Given the description of an element on the screen output the (x, y) to click on. 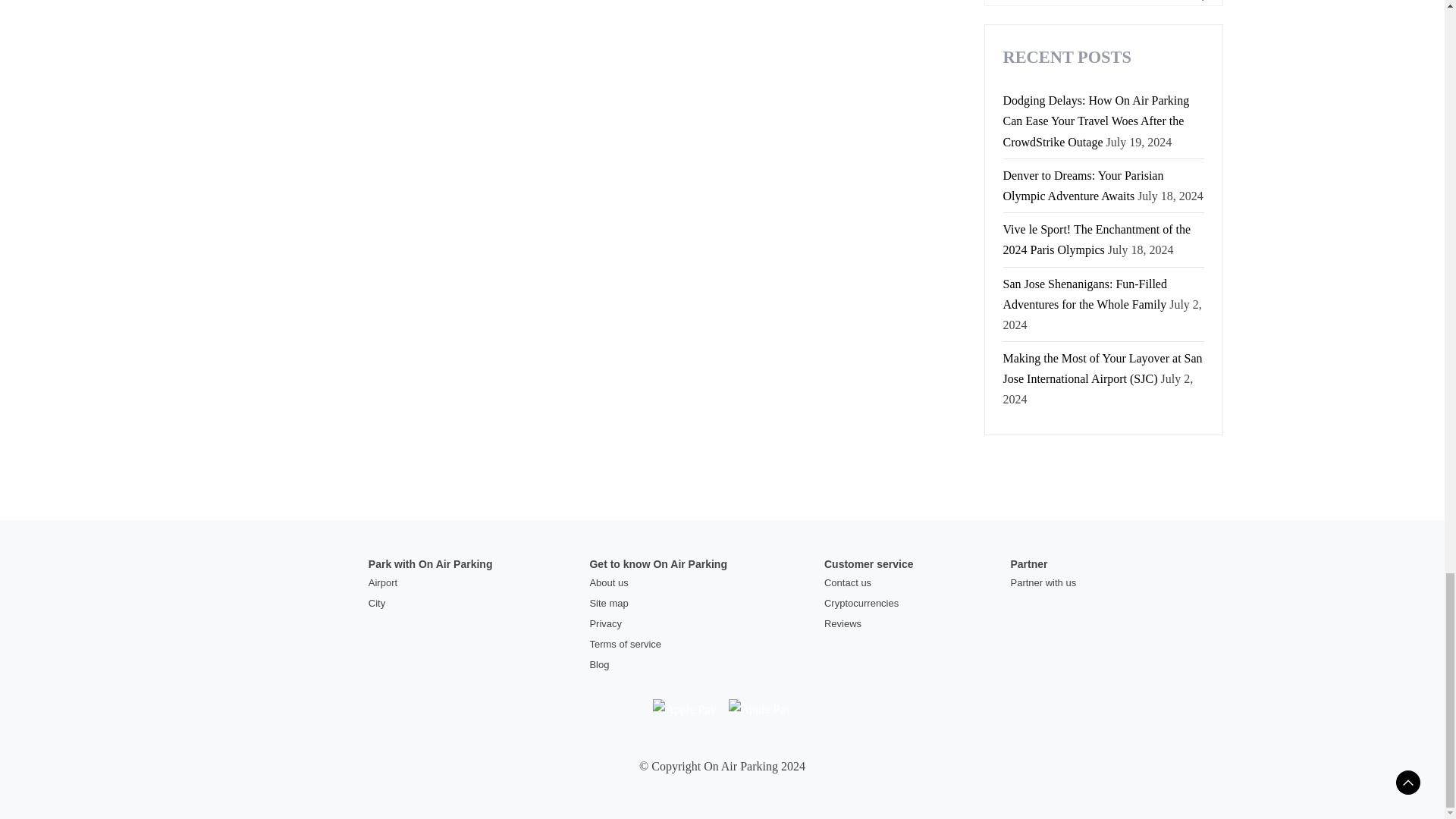
Download Apple Store (684, 708)
Download Google Play (759, 708)
Places to Cool Down for the Summer in Cincinnati, OH (1103, 2)
